Given the description of an element on the screen output the (x, y) to click on. 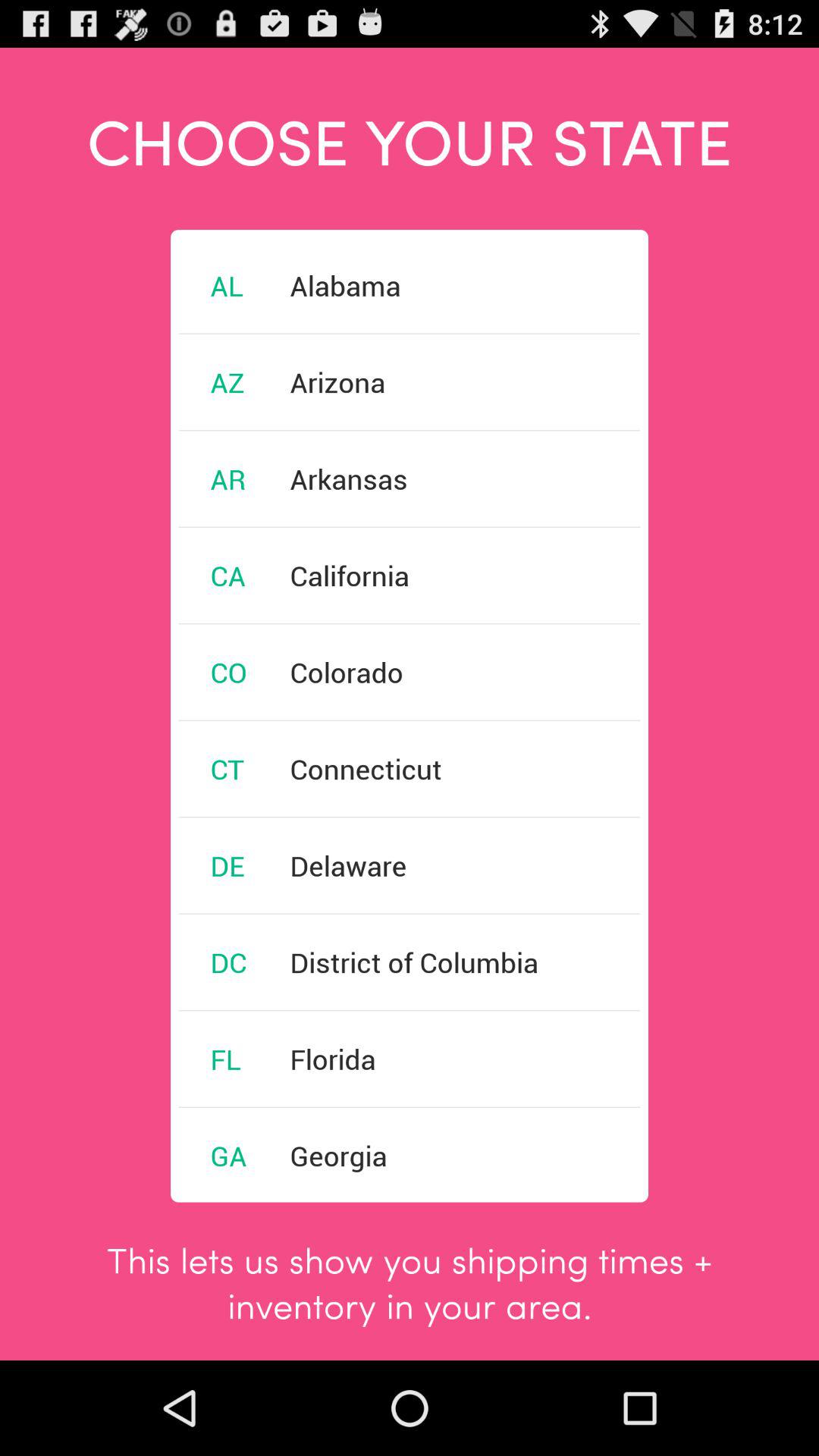
press fl icon (225, 1058)
